Given the description of an element on the screen output the (x, y) to click on. 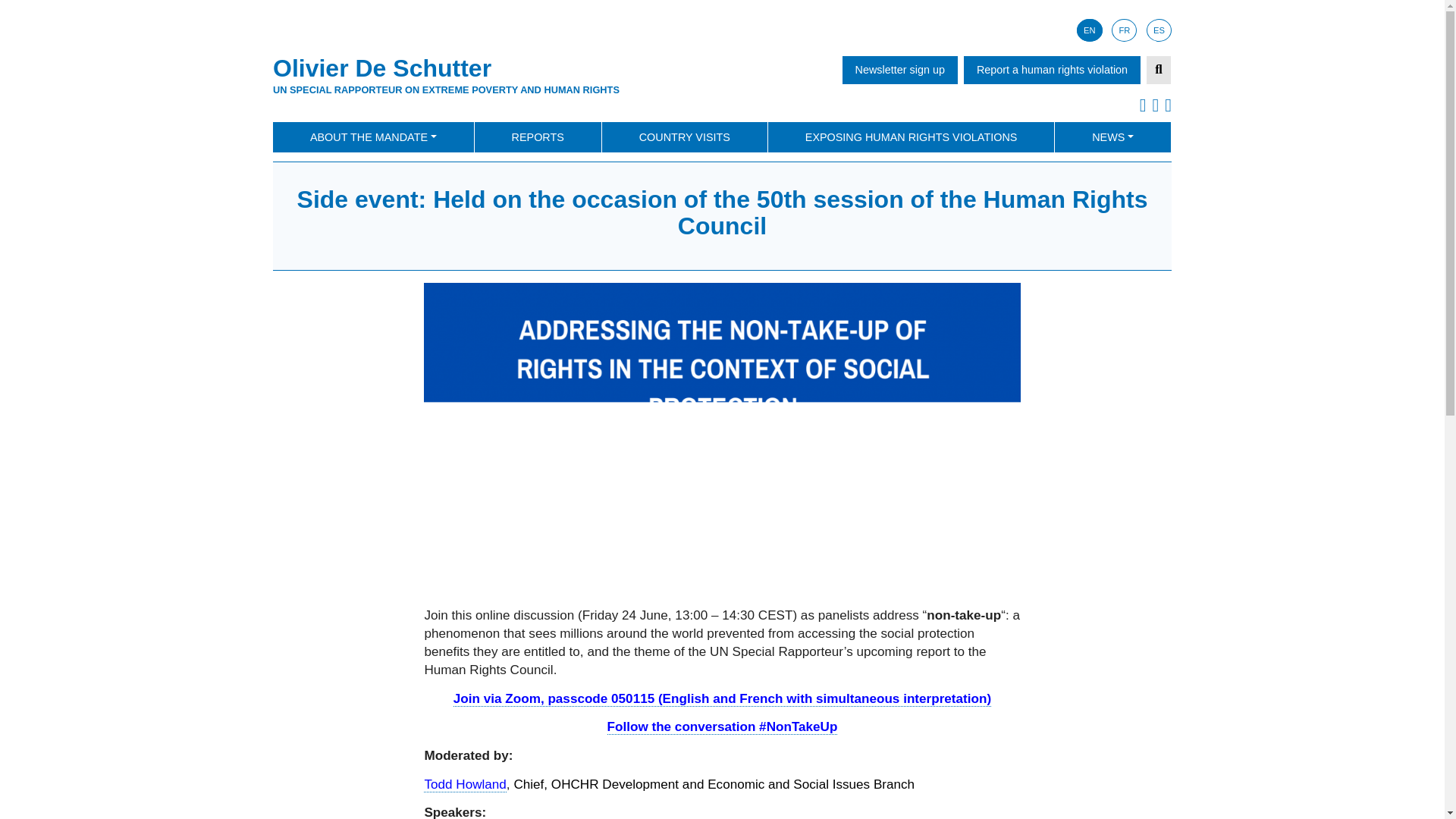
Country visits (684, 137)
Report a human rights violation (1051, 70)
ES (1159, 29)
ABOUT THE MANDATE (373, 137)
About the mandate (373, 137)
REPORTS (537, 137)
Exposing human rights violations (911, 137)
Newsletter sign up (900, 70)
COUNTRY VISITS (684, 137)
